Given the description of an element on the screen output the (x, y) to click on. 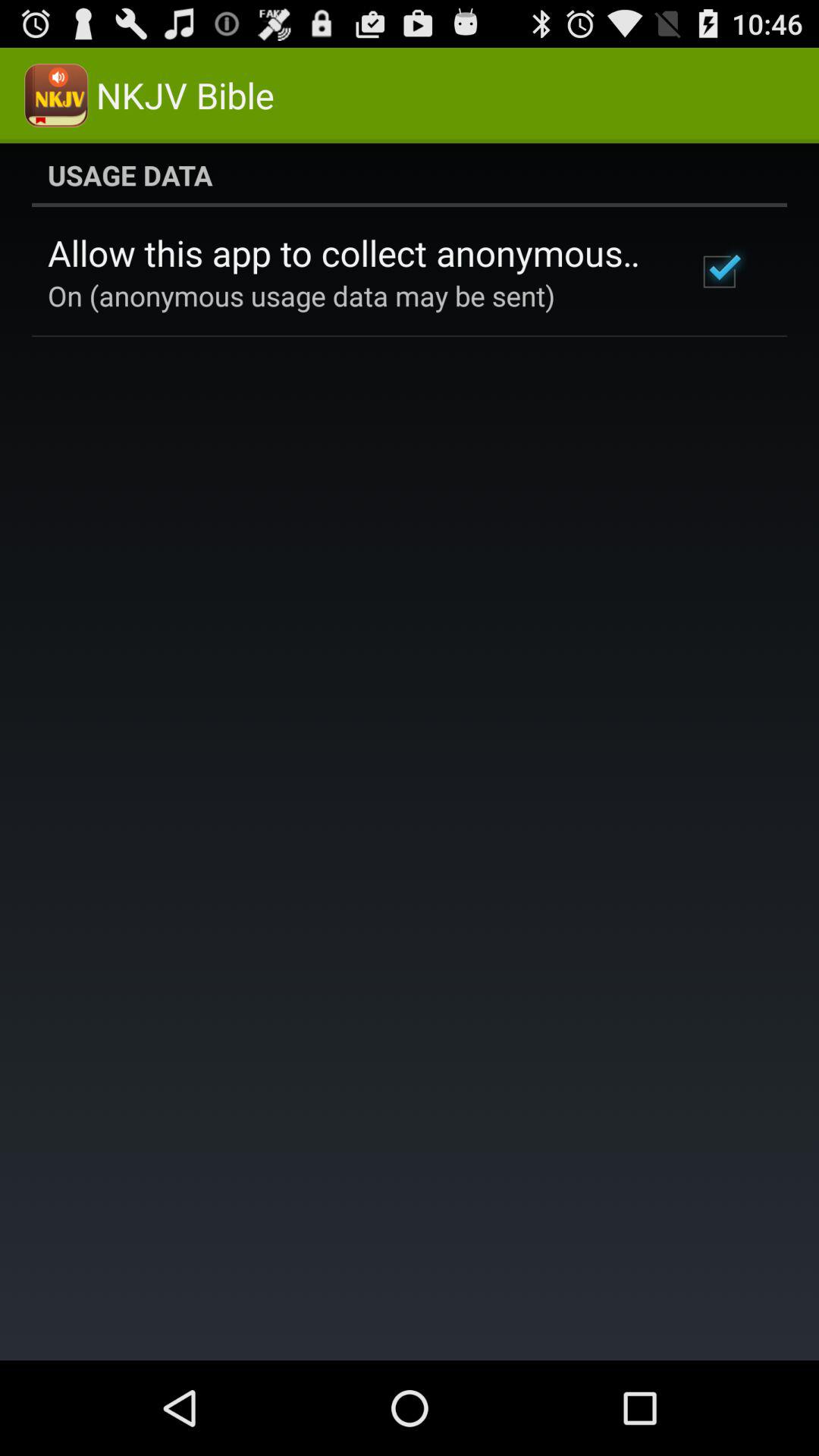
open app next to allow this app item (719, 271)
